Given the description of an element on the screen output the (x, y) to click on. 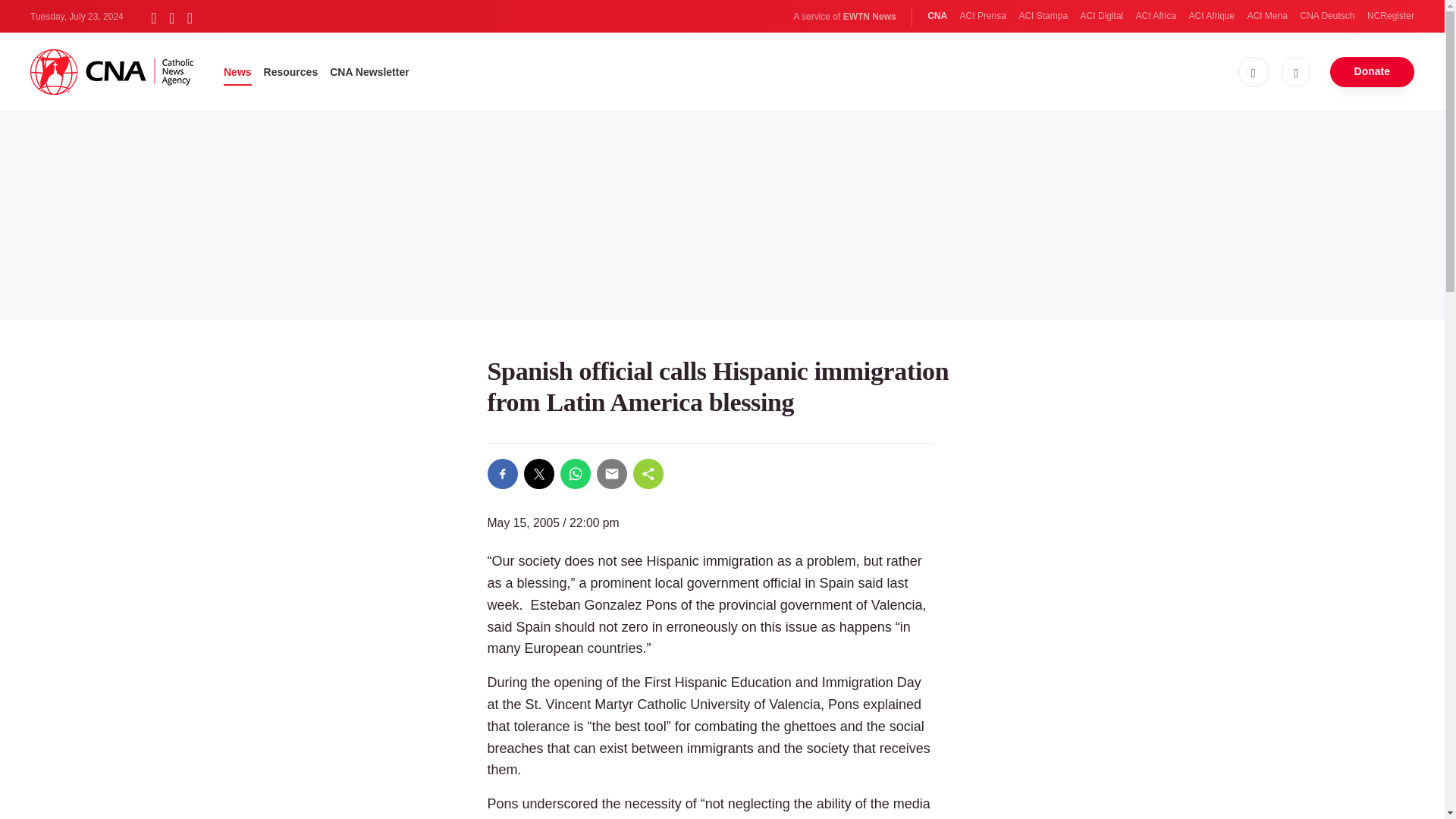
ACI Afrique (1211, 16)
ACI Prensa (982, 16)
EWTN News (869, 16)
Resources (290, 71)
ACI Digital (1102, 16)
ACI Stampa (1042, 16)
ACI Africa (1155, 16)
NCRegister (1390, 16)
EWTN News (869, 16)
News (237, 71)
ACI Mena (1267, 16)
CNA (937, 16)
CNA Deutsch (1327, 16)
